Given the description of an element on the screen output the (x, y) to click on. 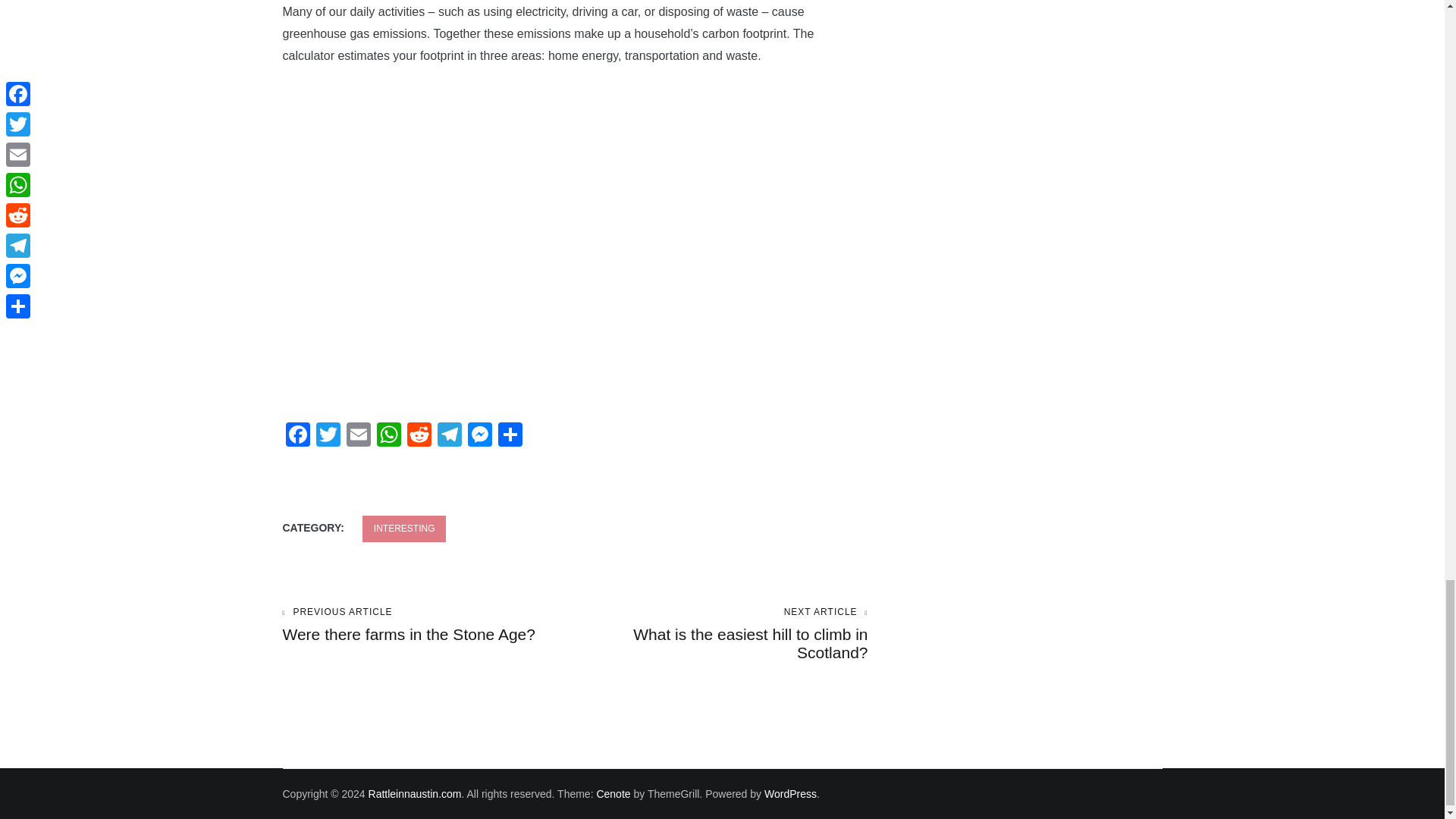
Email (357, 436)
Telegram (448, 436)
Telegram (448, 436)
INTERESTING (404, 528)
Reddit (418, 436)
WhatsApp (721, 633)
Twitter (387, 436)
Facebook (327, 436)
Facebook (297, 436)
Email (297, 436)
Twitter (357, 436)
Messenger (327, 436)
Reddit (479, 436)
